Given the description of an element on the screen output the (x, y) to click on. 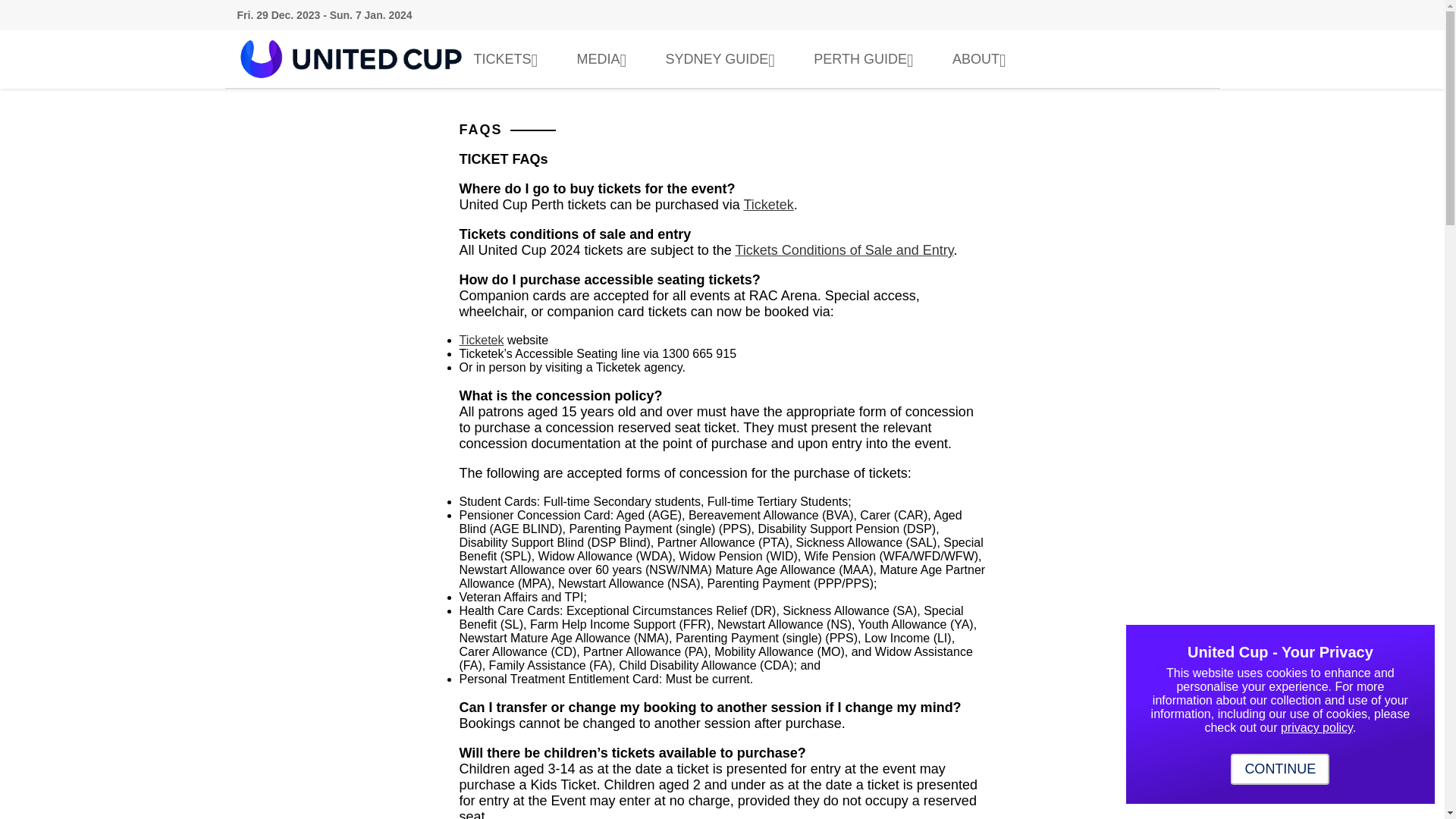
TICKETS (509, 59)
SYDNEY GUIDE (724, 59)
Ticketek (481, 339)
Ticketek (767, 204)
Tickets Conditions of Sale and Entry (844, 249)
MEDIA (606, 59)
ABOUT (983, 59)
PERTH GUIDE (868, 59)
